Given the description of an element on the screen output the (x, y) to click on. 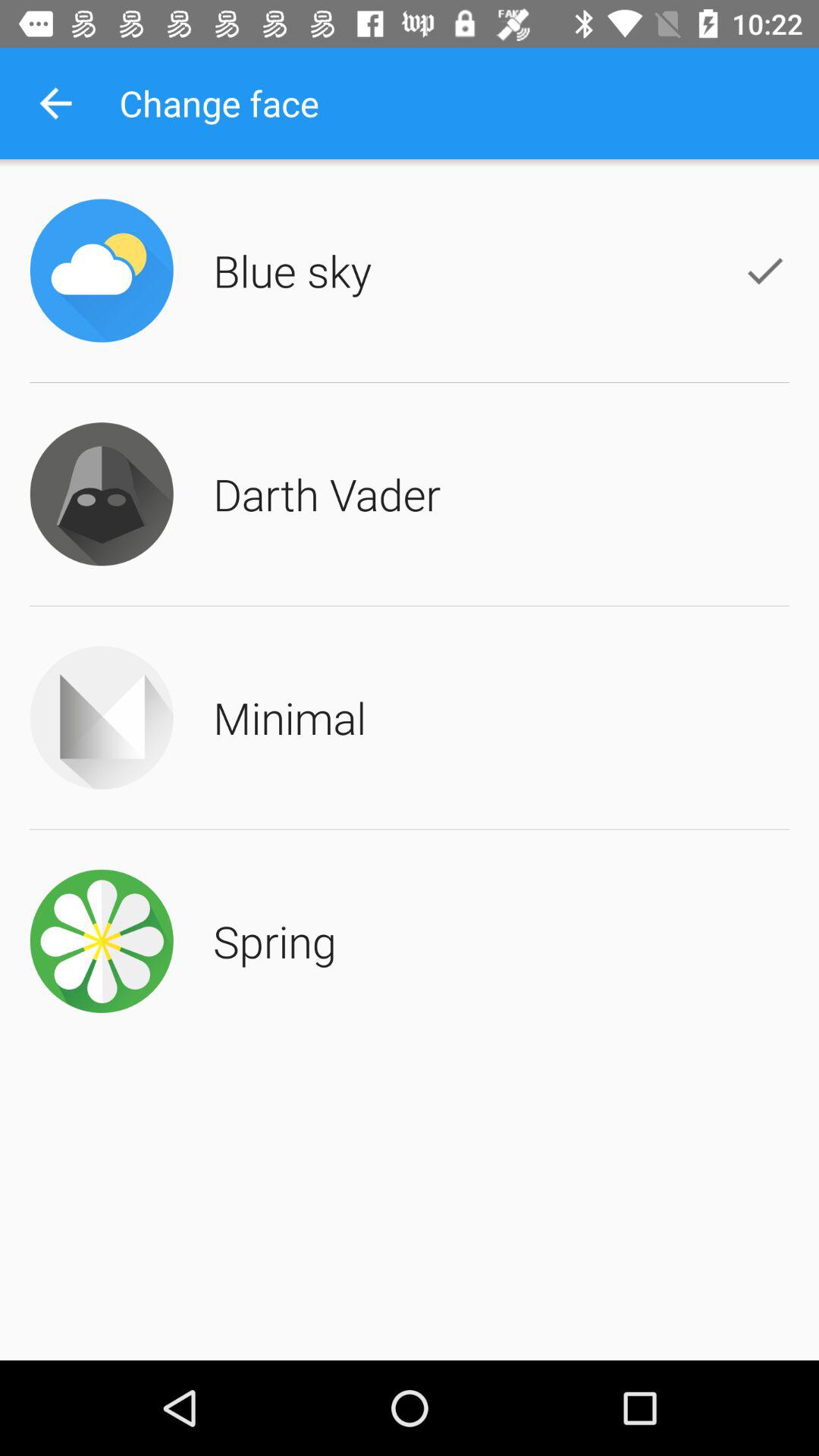
press the item below the blue sky (326, 493)
